Given the description of an element on the screen output the (x, y) to click on. 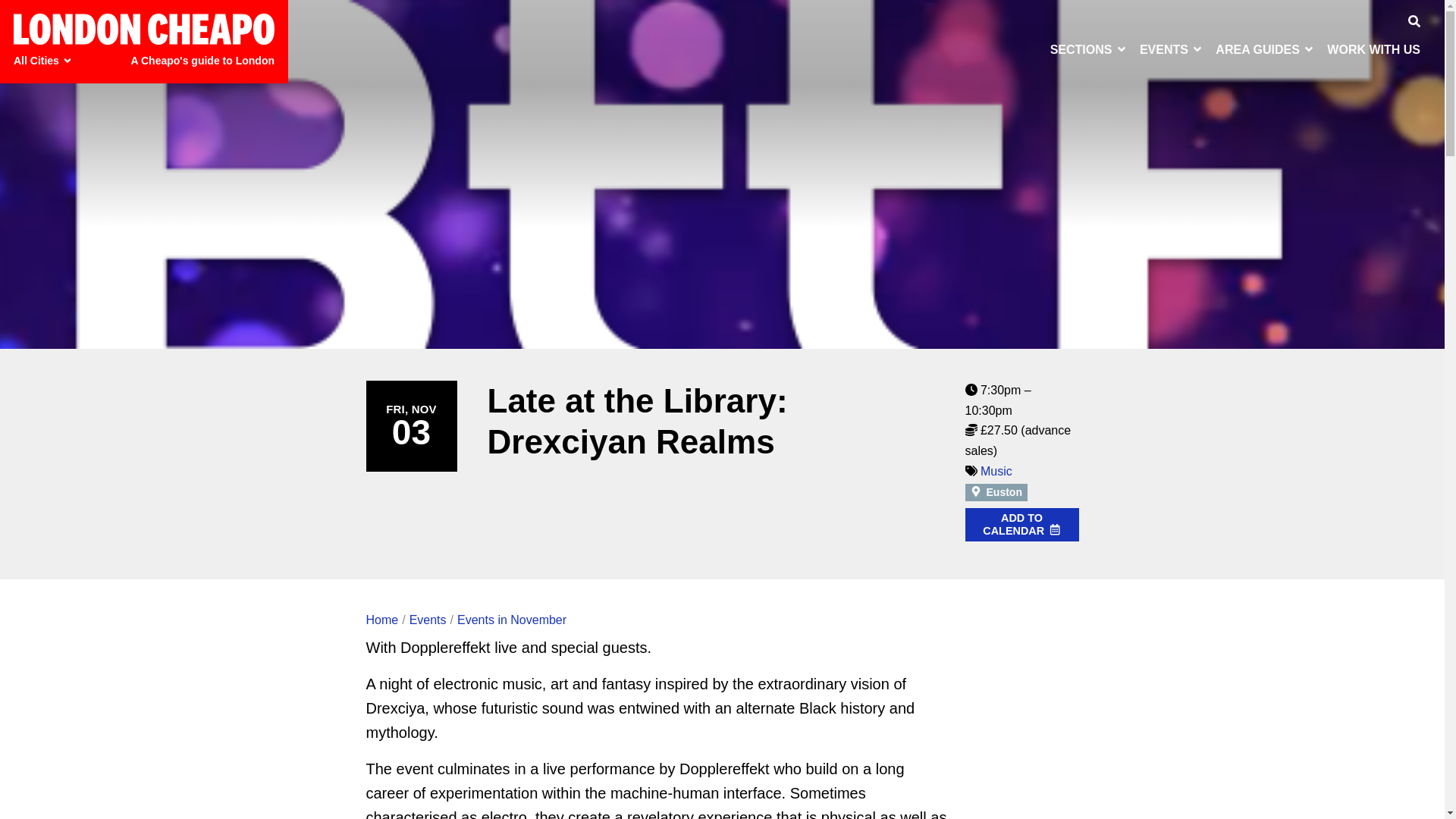
All Cities (45, 60)
EVENTS (1171, 49)
Events (1171, 49)
Sections (1088, 49)
London Cheapo Homepage (144, 28)
London Cheapo (144, 29)
SECTIONS (1088, 49)
AREA GUIDES (1264, 49)
